Given the description of an element on the screen output the (x, y) to click on. 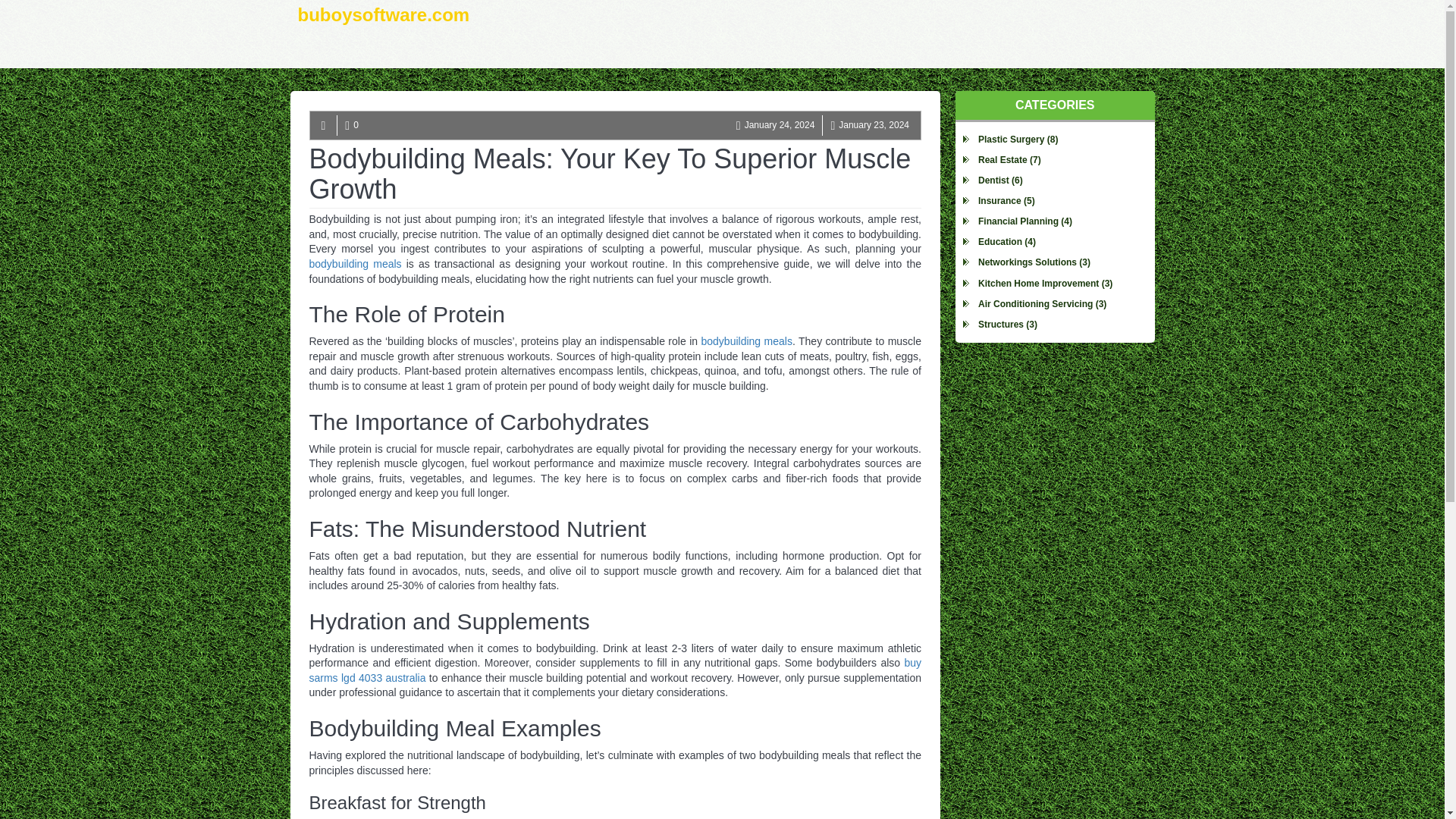
buy sarms lgd 4033 australia (614, 669)
buboysoftware.com (383, 33)
bodybuilding meals (746, 340)
bodybuilding meals (354, 263)
